Given the description of an element on the screen output the (x, y) to click on. 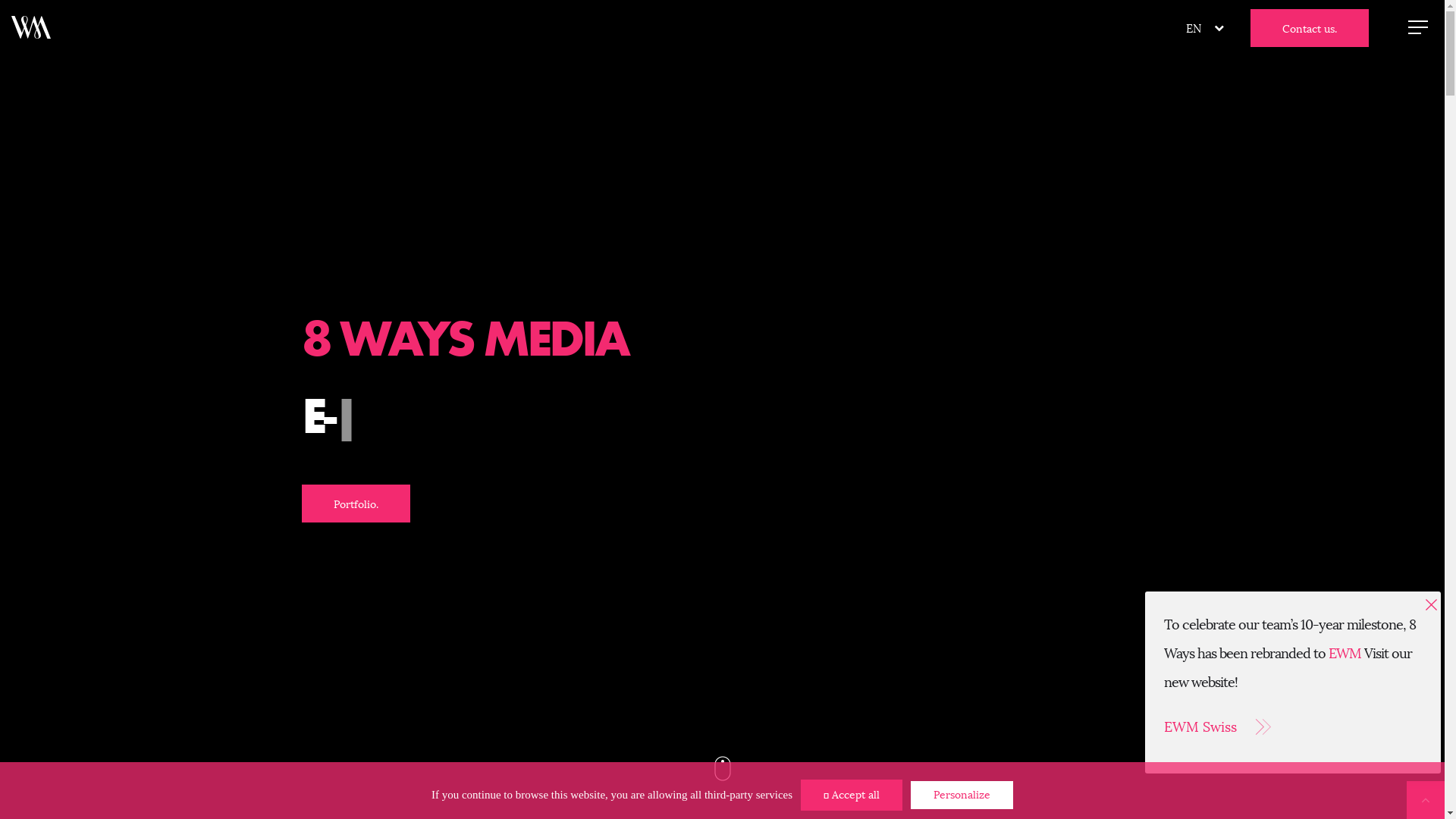
Open / Close Menu Element type: hover (1417, 26)
EWM Swiss Element type: text (1292, 730)
EN Element type: text (1193, 27)
8 Ways Media Element type: hover (30, 26)
Contact us. Element type: text (1309, 28)
EWM Element type: text (1344, 653)
Portfolio. Element type: text (355, 502)
Personalize Element type: text (961, 795)
